Given the description of an element on the screen output the (x, y) to click on. 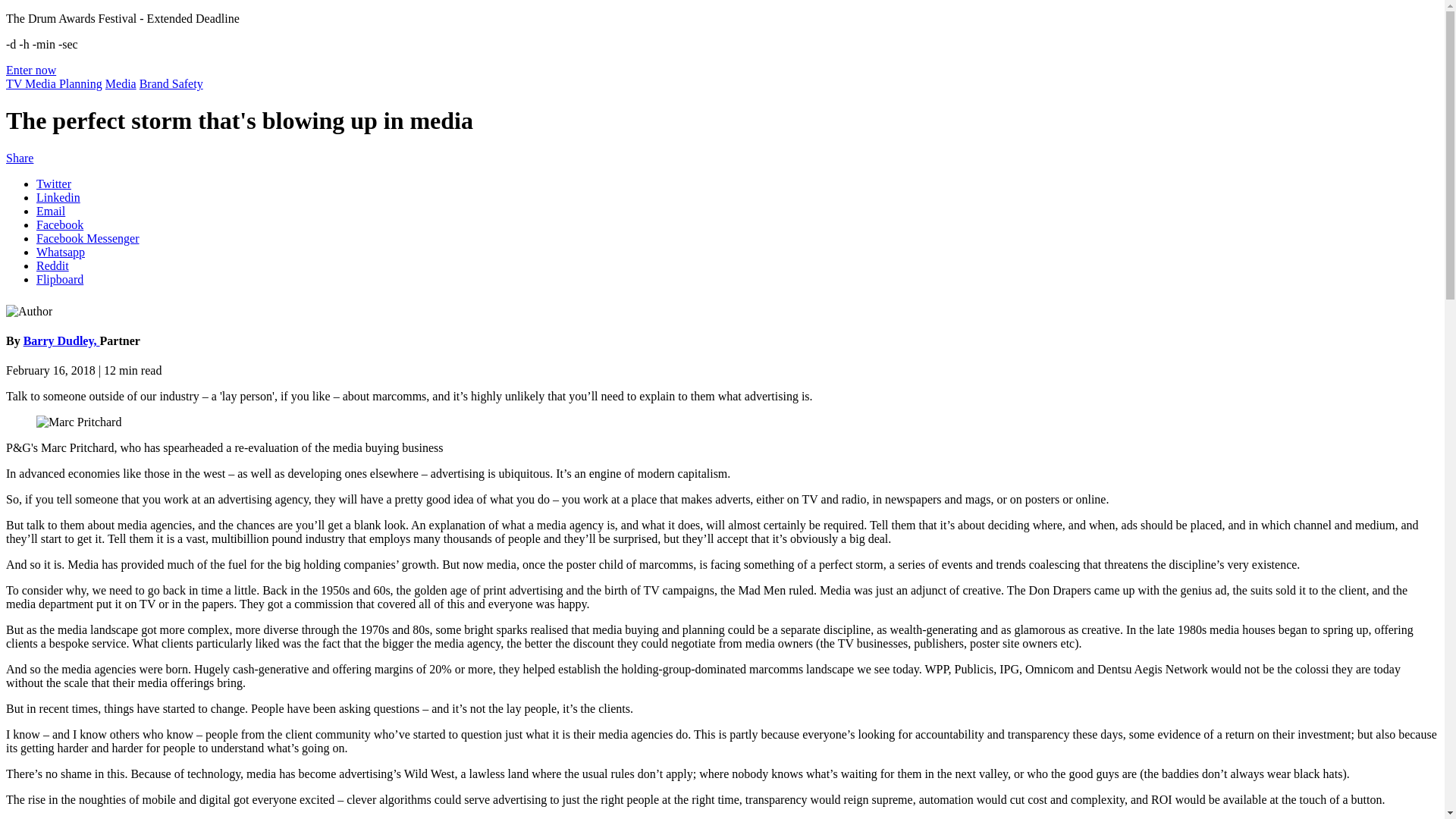
Facebook Messenger (87, 237)
Marc Pritchard (78, 422)
Whatsapp (60, 251)
Share (19, 157)
Twitter (53, 183)
Linkedin (58, 196)
Email (50, 210)
Flipboard (59, 278)
Enter now (30, 69)
Reddit (52, 265)
Barry Dudley, (61, 340)
Brand Safety (171, 83)
TV Media Planning (53, 83)
Facebook (59, 224)
